Given the description of an element on the screen output the (x, y) to click on. 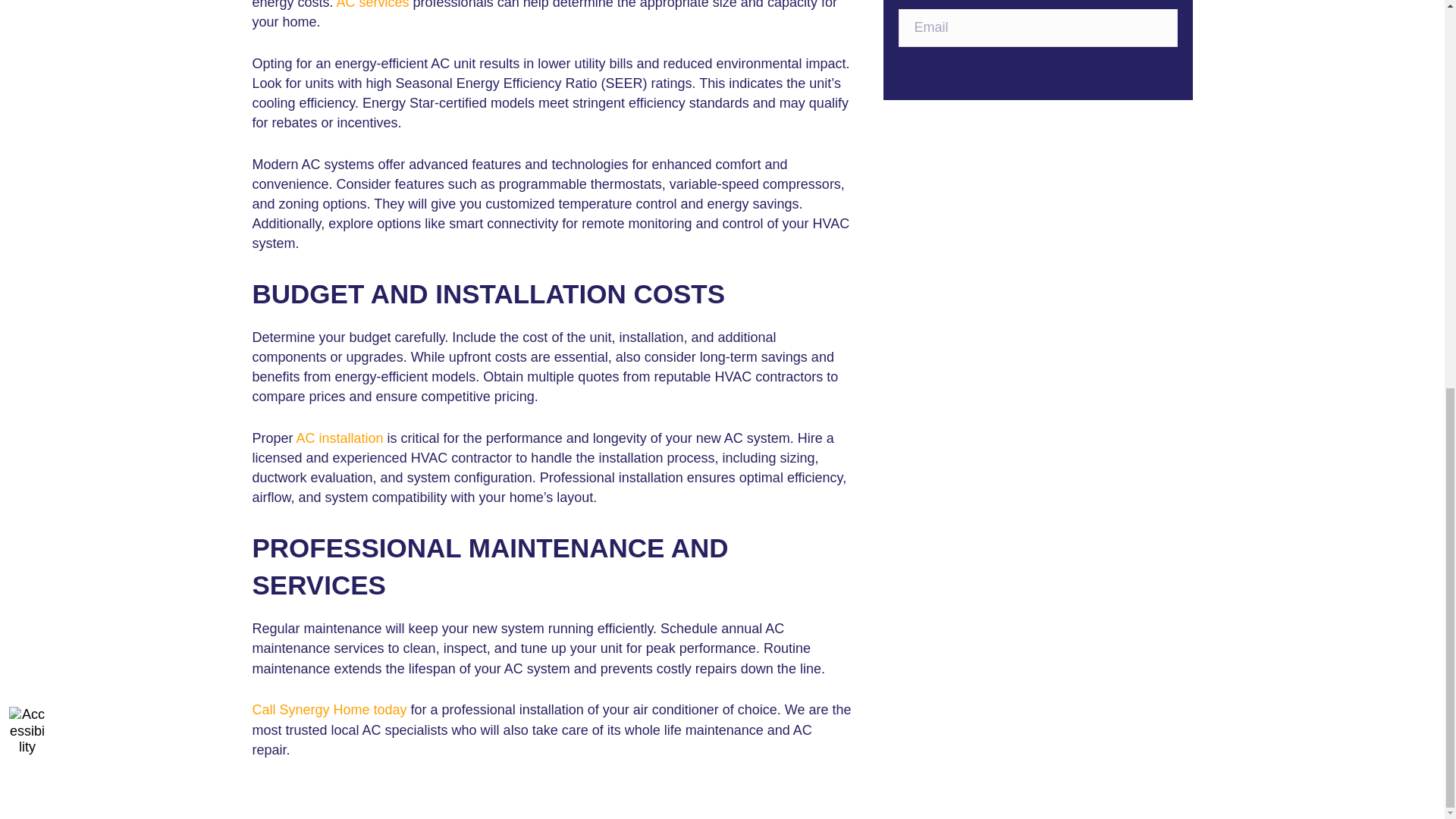
Accessibility Helper sidebar (26, 4)
